Given the description of an element on the screen output the (x, y) to click on. 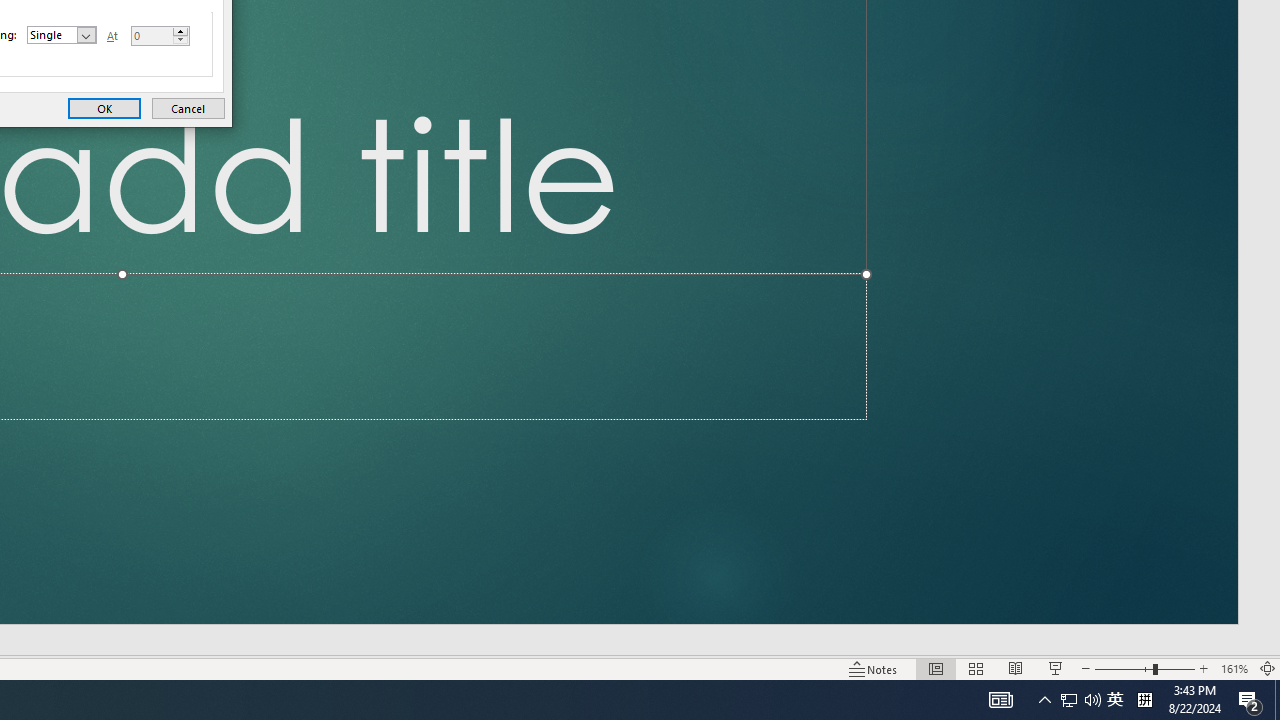
User Promoted Notification Area (1080, 699)
At (159, 35)
Cancel (188, 108)
AutomationID: 4105 (1000, 699)
OK (104, 108)
More (1115, 699)
Zoom 161% (180, 31)
Less (1234, 668)
Tray Input Indicator - Chinese (Simplified, China) (180, 40)
